Given the description of an element on the screen output the (x, y) to click on. 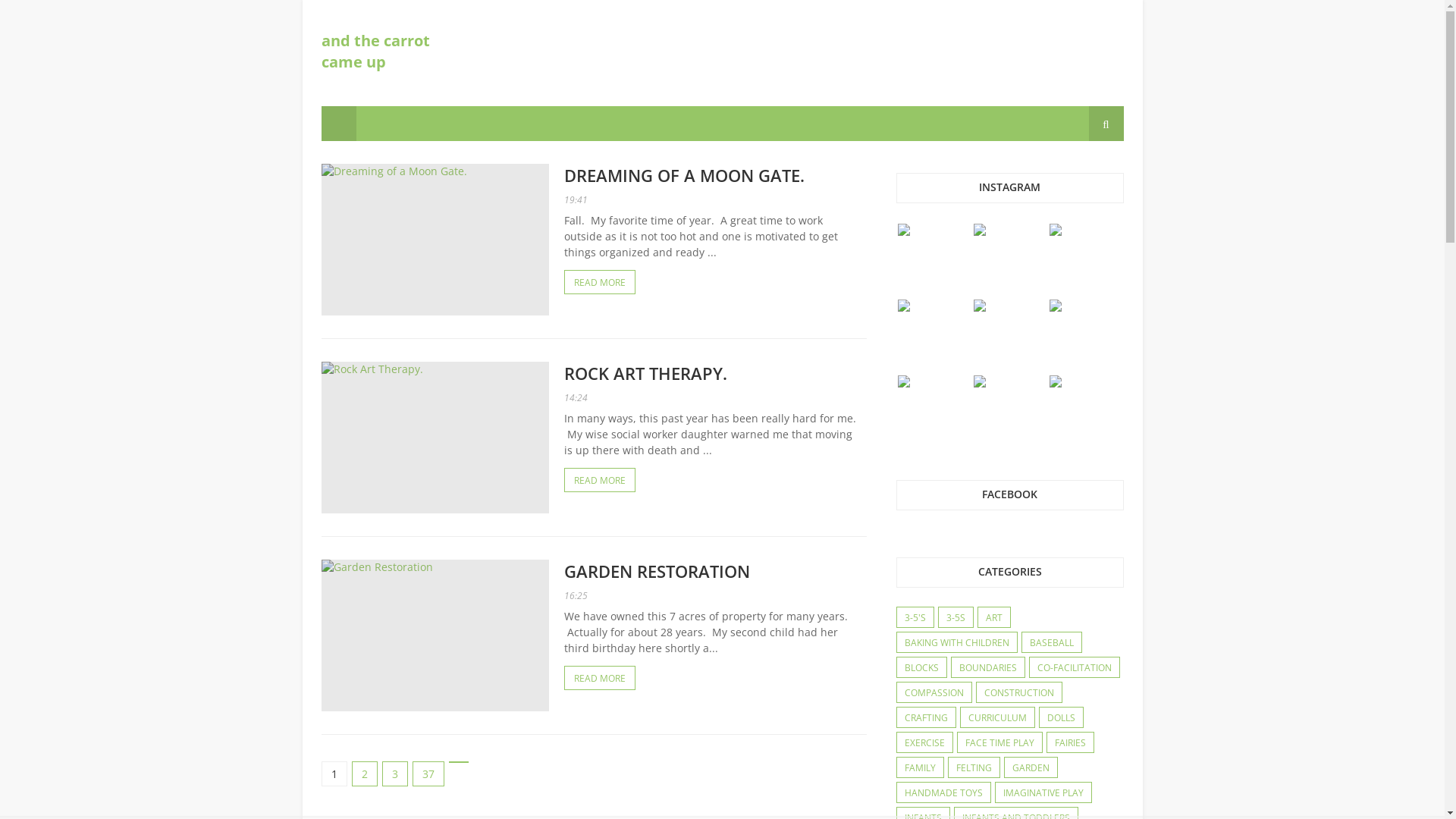
HANDMADE TOYS Element type: text (942, 792)
GARDEN RESTORATION Element type: text (656, 570)
2 Element type: text (364, 773)
IMAGINATIVE PLAY Element type: text (1042, 792)
READ MORE Element type: text (599, 281)
3-5'S Element type: text (914, 617)
BASEBALL Element type: text (1051, 642)
ART Element type: text (994, 617)
37 Element type: text (428, 773)
19:41 Element type: text (575, 199)
READ MORE Element type: text (599, 479)
and the carrot came up Element type: text (375, 51)
FACE TIME PLAY Element type: text (999, 742)
BLOCKS Element type: text (920, 667)
CURRICULUM Element type: text (996, 717)
READ MORE Element type: text (599, 677)
3-5S Element type: text (955, 617)
COMPASSION Element type: text (933, 692)
ROCK ART THERAPY. Element type: text (645, 372)
EXERCISE Element type: text (923, 742)
DREAMING OF A MOON GATE. Element type: text (684, 174)
CONSTRUCTION Element type: text (1018, 692)
FELTING Element type: text (972, 767)
BAKING WITH CHILDREN Element type: text (956, 642)
3 Element type: text (394, 773)
FAMILY Element type: text (919, 767)
FAIRIES Element type: text (1069, 742)
CRAFTING Element type: text (925, 717)
14:24 Element type: text (575, 397)
DOLLS Element type: text (1060, 717)
CO-FACILITATION Element type: text (1074, 667)
16:25 Element type: text (575, 595)
BOUNDARIES Element type: text (986, 667)
GARDEN Element type: text (1030, 767)
